Given the description of an element on the screen output the (x, y) to click on. 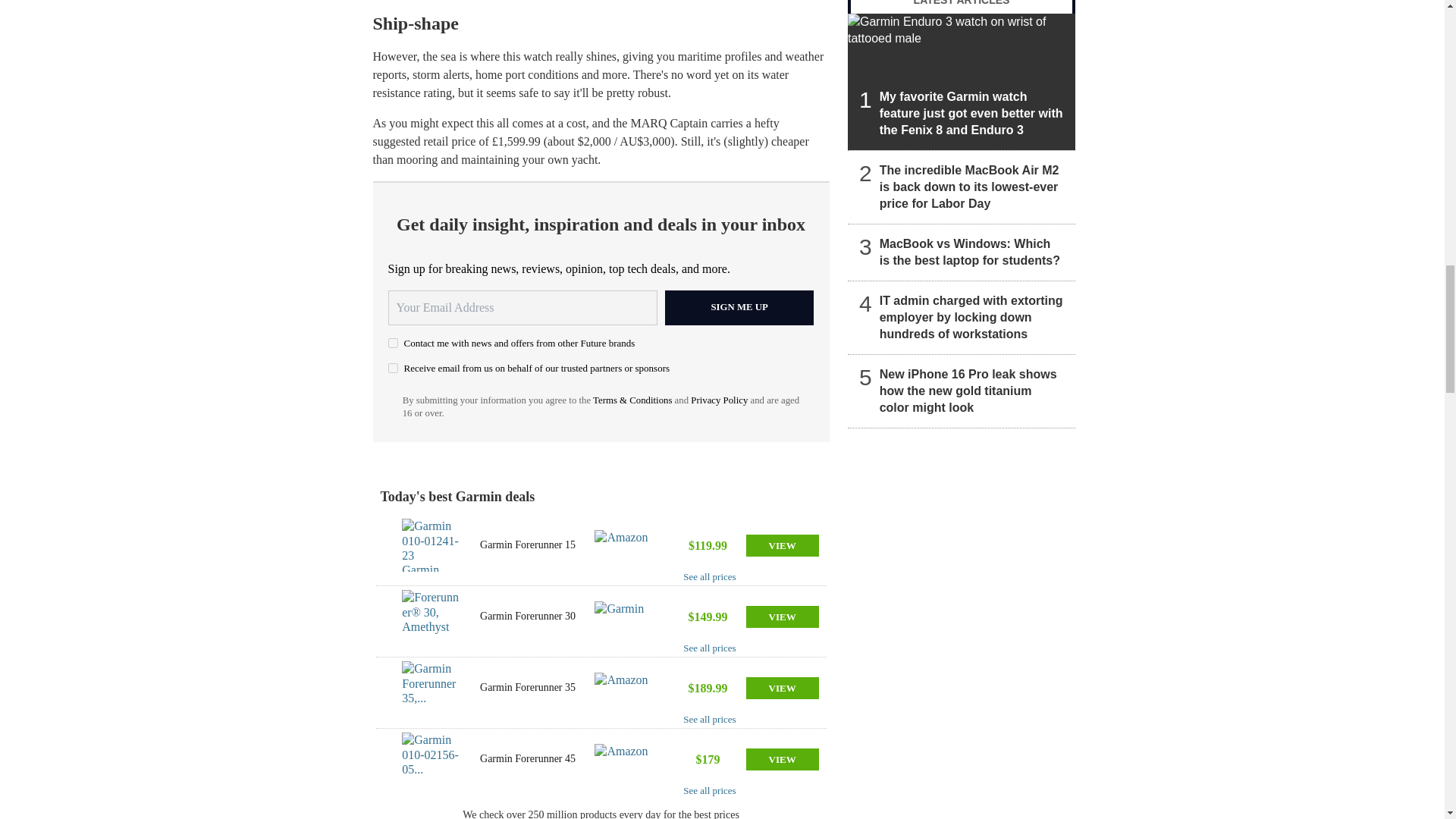
Amazon (624, 544)
Amazon (624, 687)
Garmin Forerunner 35,... (431, 687)
on (392, 368)
on (392, 343)
Garmin (624, 616)
Sign me up (739, 307)
Amazon (624, 758)
Garmin 010-01241-23 Garmin... (431, 544)
